Given the description of an element on the screen output the (x, y) to click on. 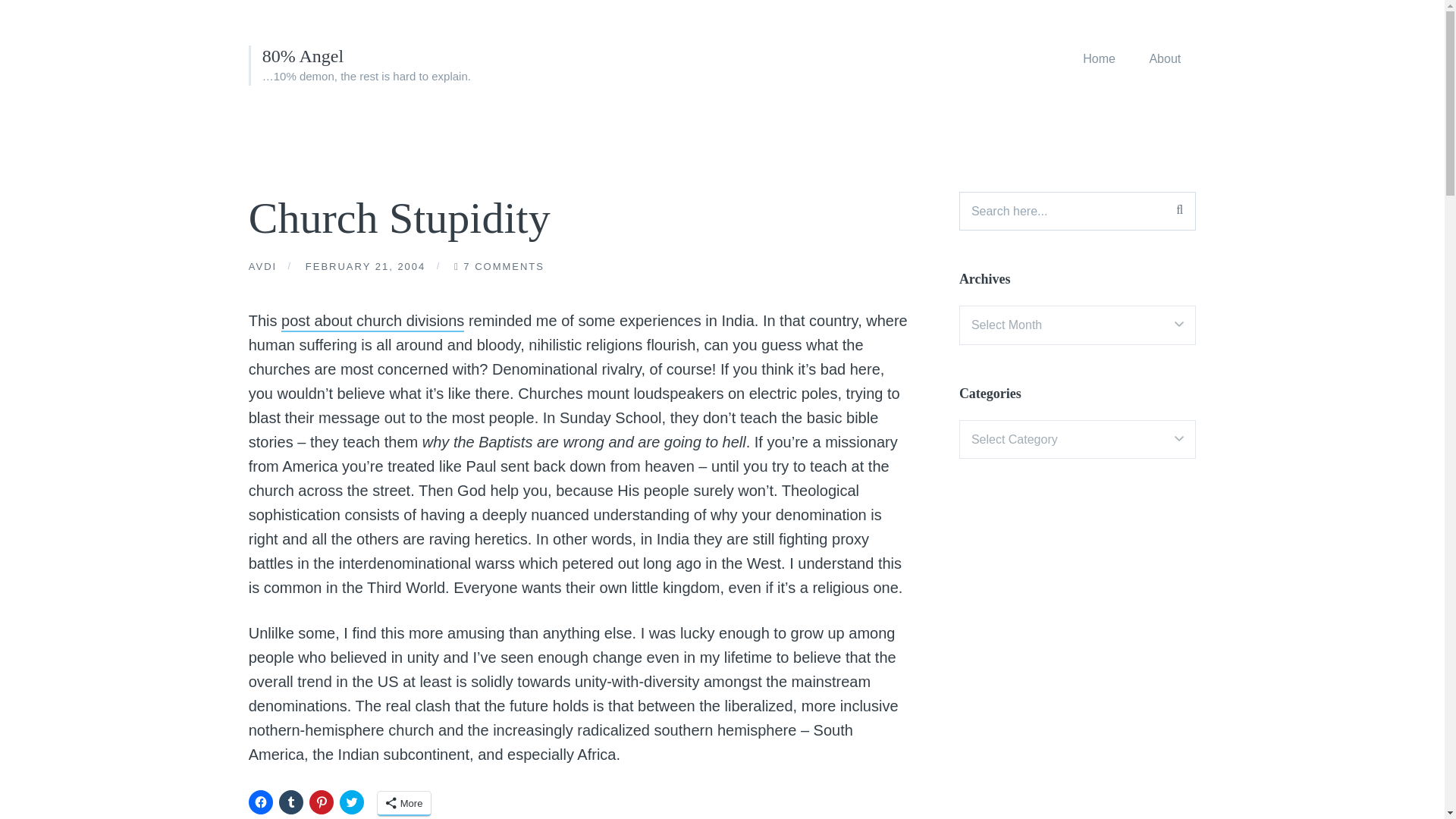
Click to share on Tumblr (290, 802)
post about church divisions (372, 322)
Home (1098, 58)
About (1164, 58)
Comments on Church Stupidity (503, 268)
Posts by Avdi (262, 268)
AVDI (262, 268)
7 COMMENTS (503, 268)
More (403, 803)
Click to share on Twitter (351, 802)
Click to share on Pinterest (320, 802)
Click to share on Facebook (260, 802)
